Given the description of an element on the screen output the (x, y) to click on. 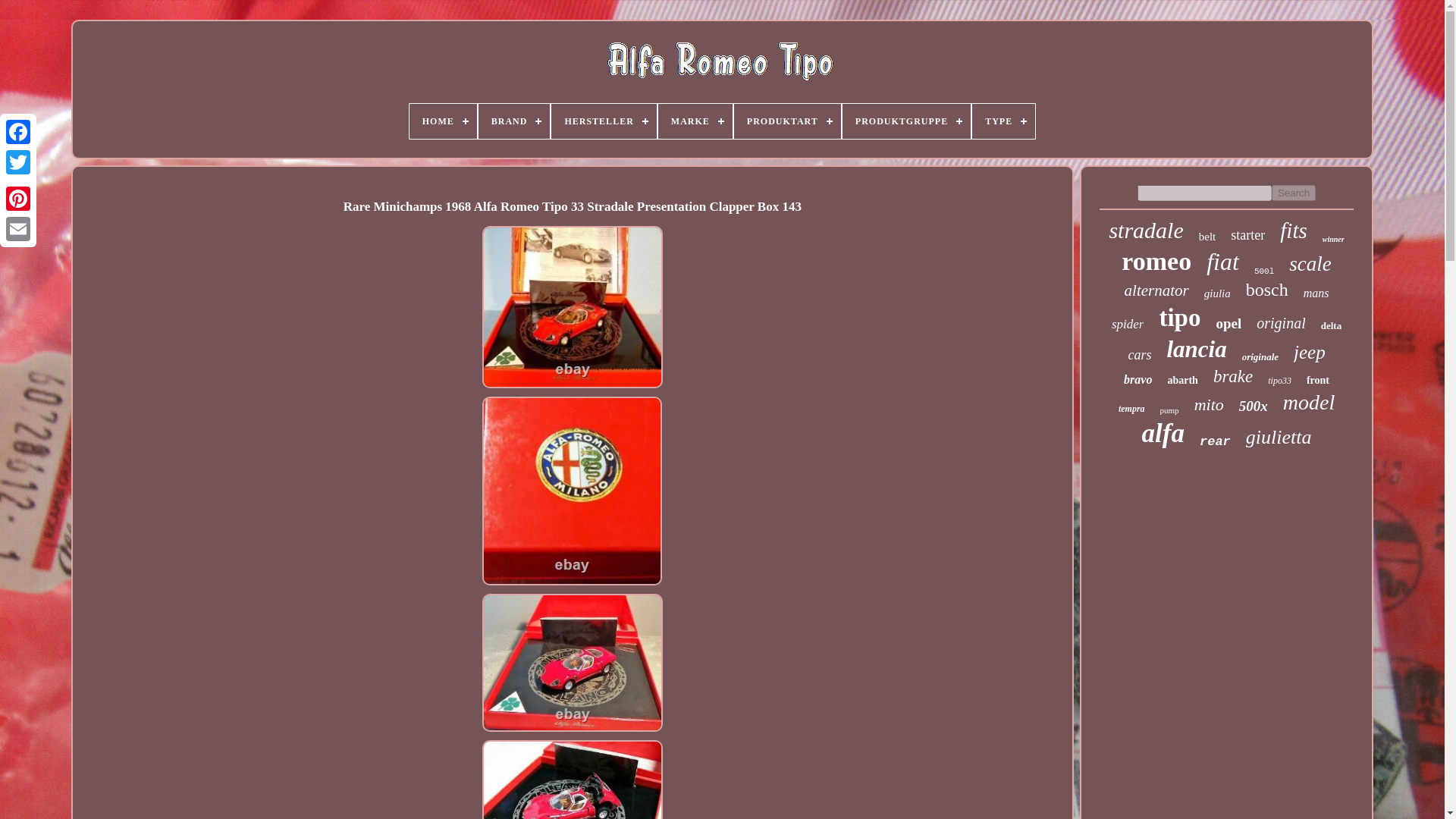
HERSTELLER (603, 121)
HOME (443, 121)
Email (17, 228)
Search (1293, 192)
BRAND (514, 121)
